Given the description of an element on the screen output the (x, y) to click on. 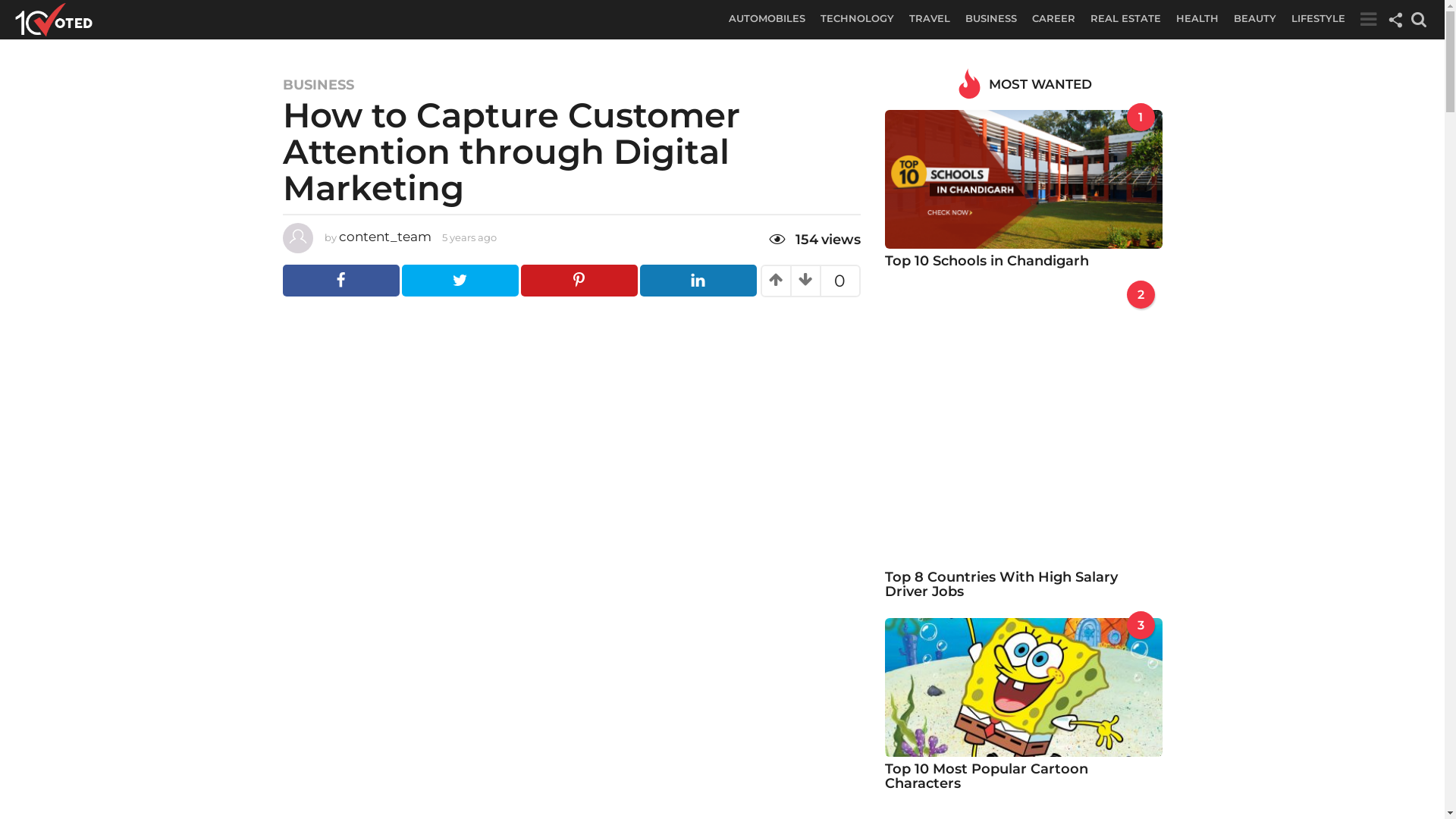
Top 10 Schools in Chandigarh Element type: hover (1022, 178)
HEALTH Element type: text (1197, 17)
BUSINESS Element type: text (317, 84)
LIFESTYLE Element type: text (1318, 17)
BEAUTY Element type: text (1254, 17)
Top 8 Countries With High Salary Driver Jobs Element type: hover (1022, 424)
Top 10 Schools in Chandigarh Element type: text (986, 260)
content_team Element type: text (384, 236)
TRAVEL Element type: text (929, 17)
Top 10 Most Popular Cartoon Characters Element type: text (986, 775)
Top 8 Countries With High Salary Driver Jobs Element type: text (1000, 583)
BUSINESS Element type: text (990, 17)
REAL ESTATE Element type: text (1125, 17)
Top 10 Most Popular Cartoon Characters Element type: hover (1022, 685)
AUTOMOBILES Element type: text (766, 17)
CAREER Element type: text (1053, 17)
TECHNOLOGY Element type: text (857, 17)
